Given the description of an element on the screen output the (x, y) to click on. 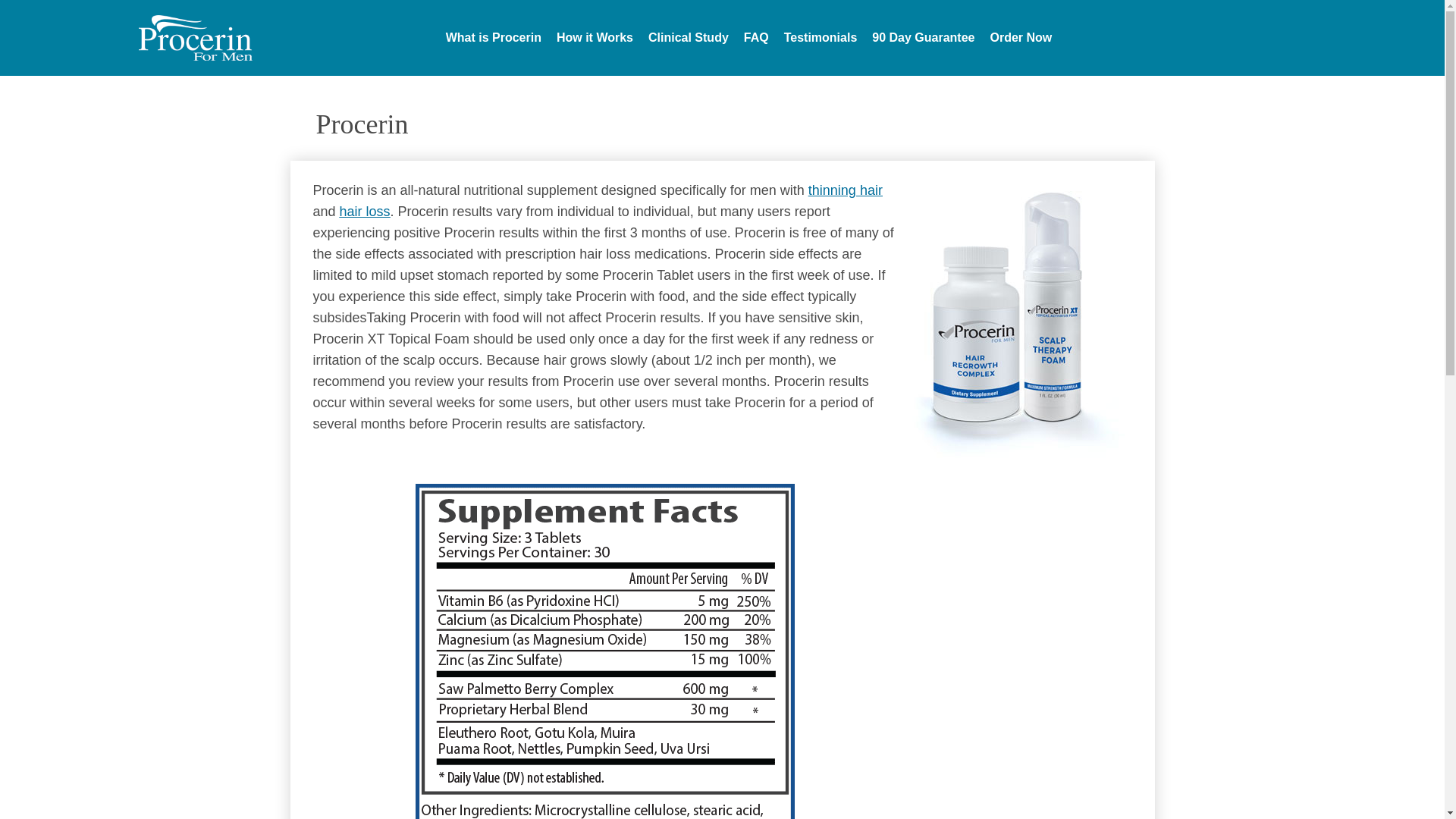
hair loss (364, 211)
thinning hair (845, 190)
Order Now (1020, 37)
FAQ (756, 37)
Testimonials (820, 37)
90 Day Guarantee (922, 37)
How it Works (594, 37)
Clinical Study (688, 37)
Hair Loss (364, 211)
What is Procerin (493, 37)
Thinning Hair (845, 190)
